Given the description of an element on the screen output the (x, y) to click on. 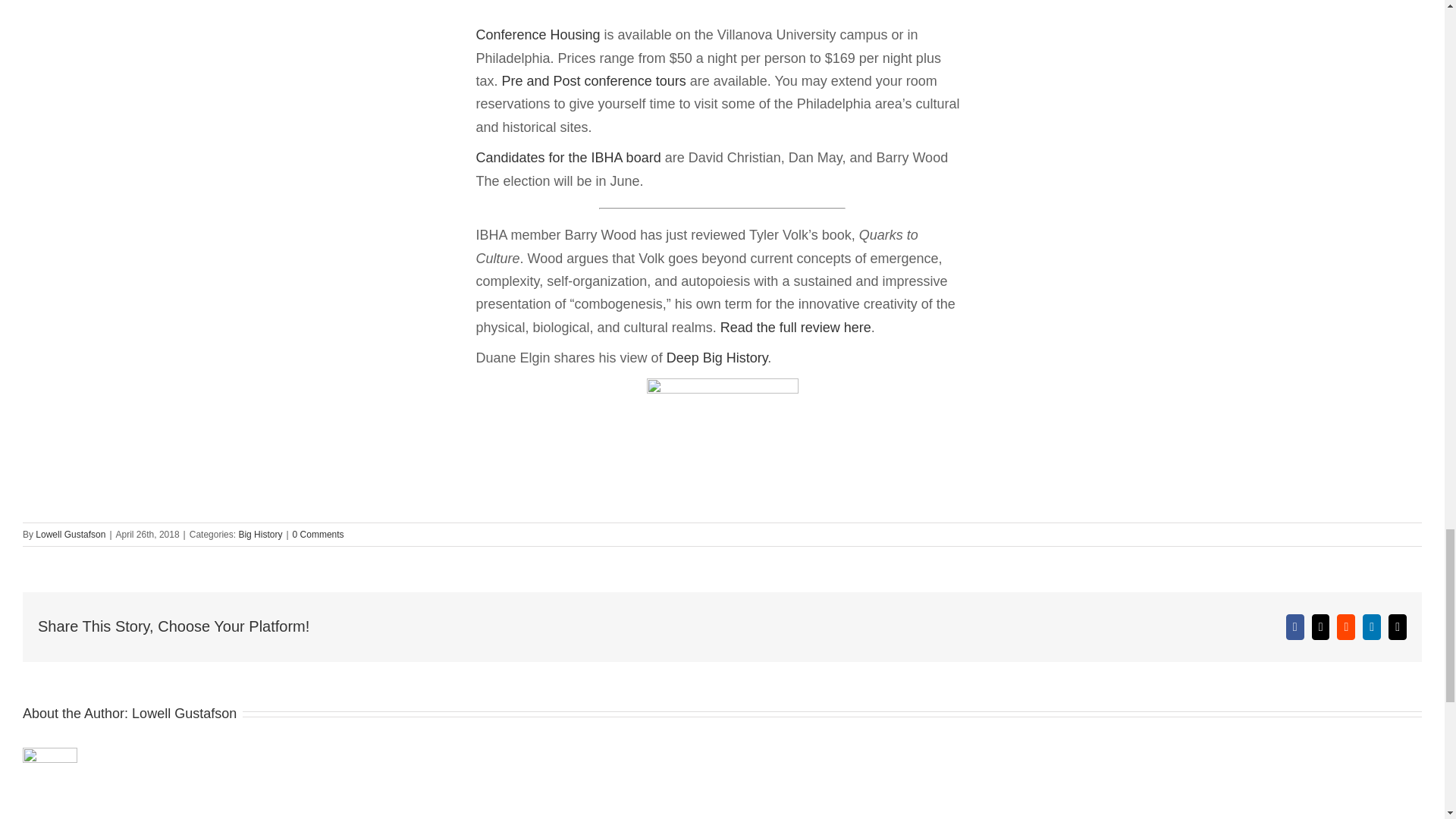
Posts by Lowell Gustafson (183, 713)
Posts by Lowell Gustafson (69, 534)
